Given the description of an element on the screen output the (x, y) to click on. 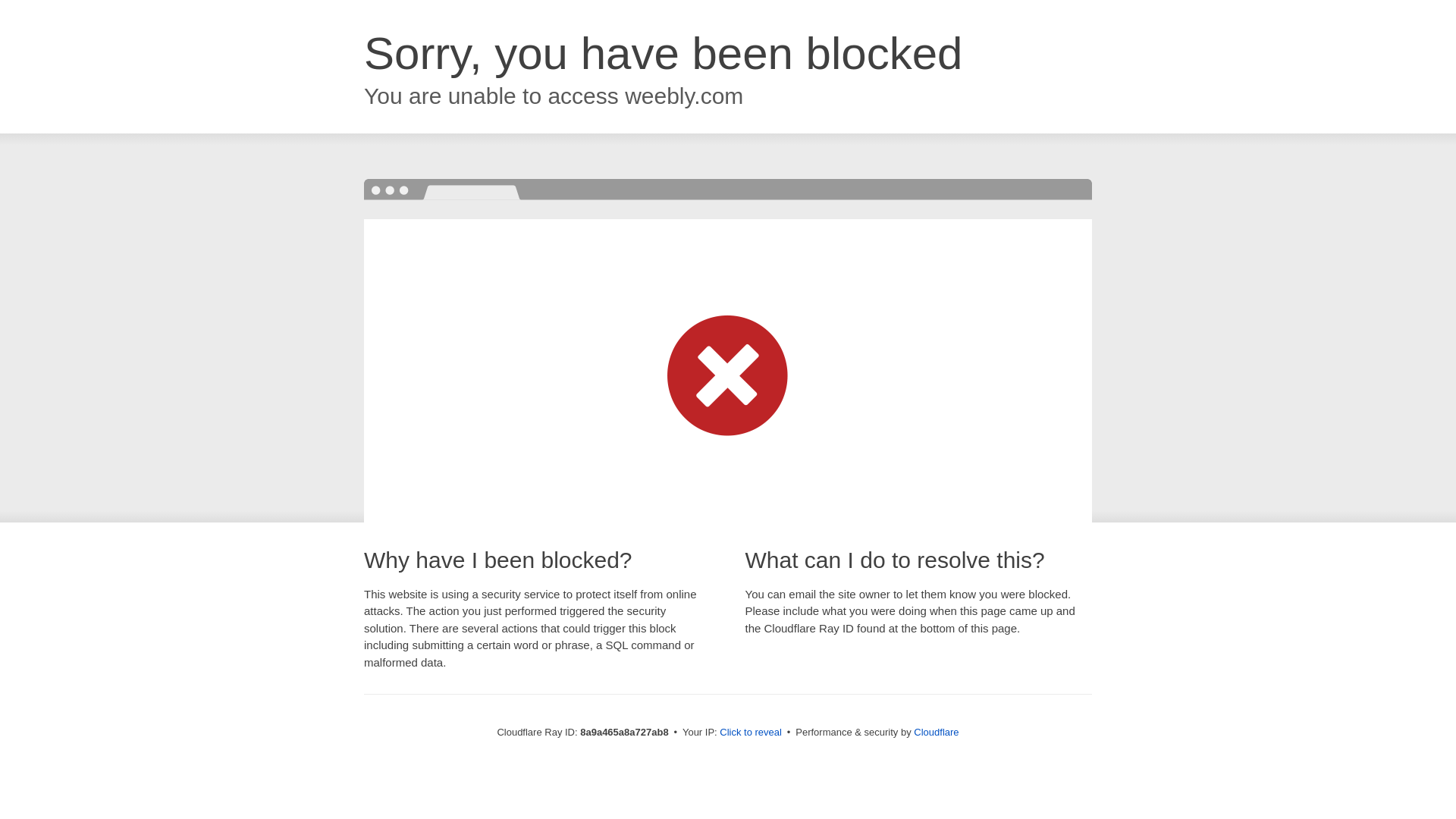
Click to reveal (750, 732)
Cloudflare (936, 731)
